Given the description of an element on the screen output the (x, y) to click on. 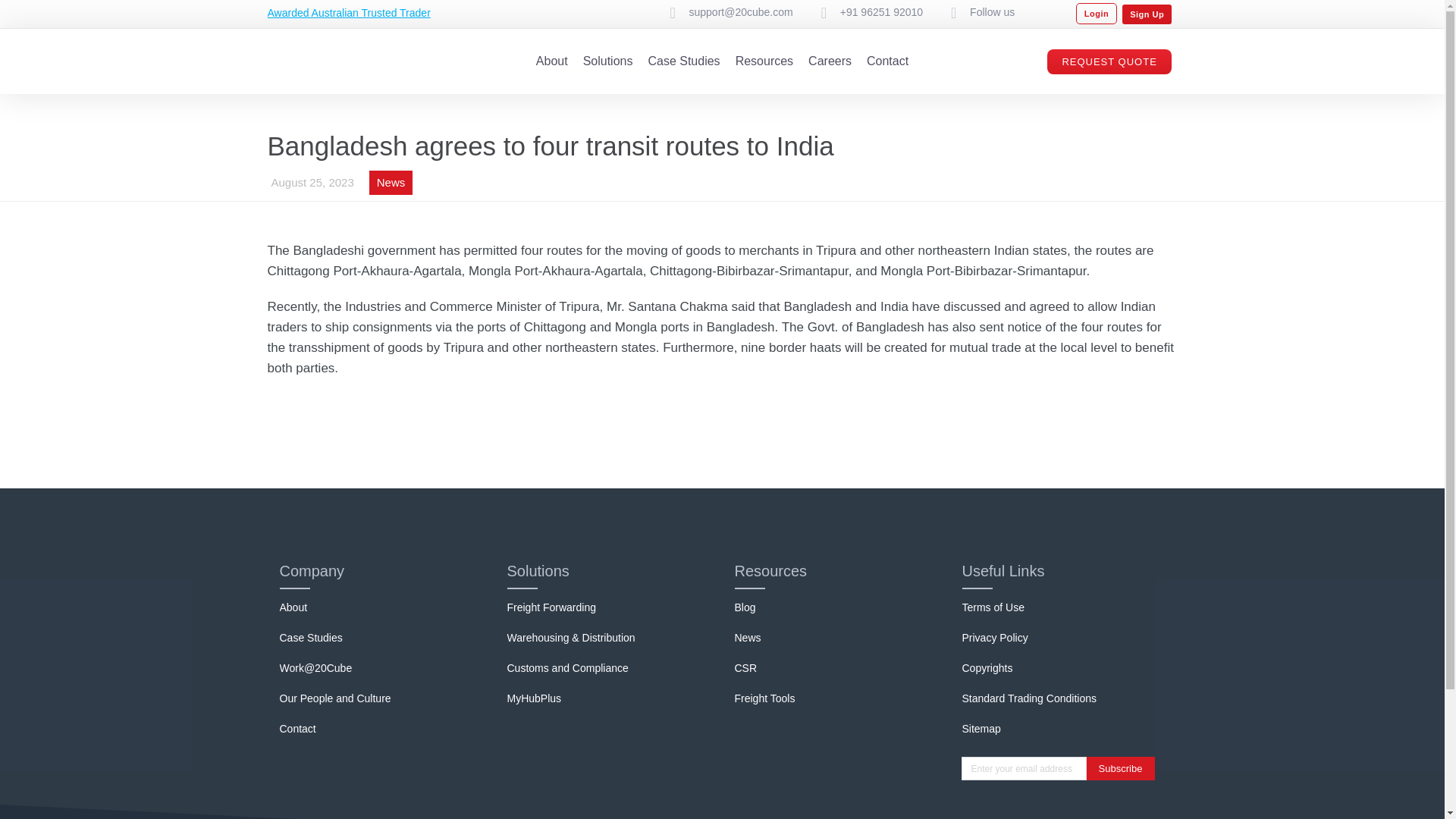
Follow us (991, 11)
Awarded Australian Trusted Trader (347, 12)
Contact (887, 60)
Solutions (608, 60)
Sign Up (1147, 14)
About (551, 60)
Resources (764, 60)
20Cube Logo (327, 61)
Case Studies (683, 60)
Login (1095, 13)
Careers (829, 60)
